Given the description of an element on the screen output the (x, y) to click on. 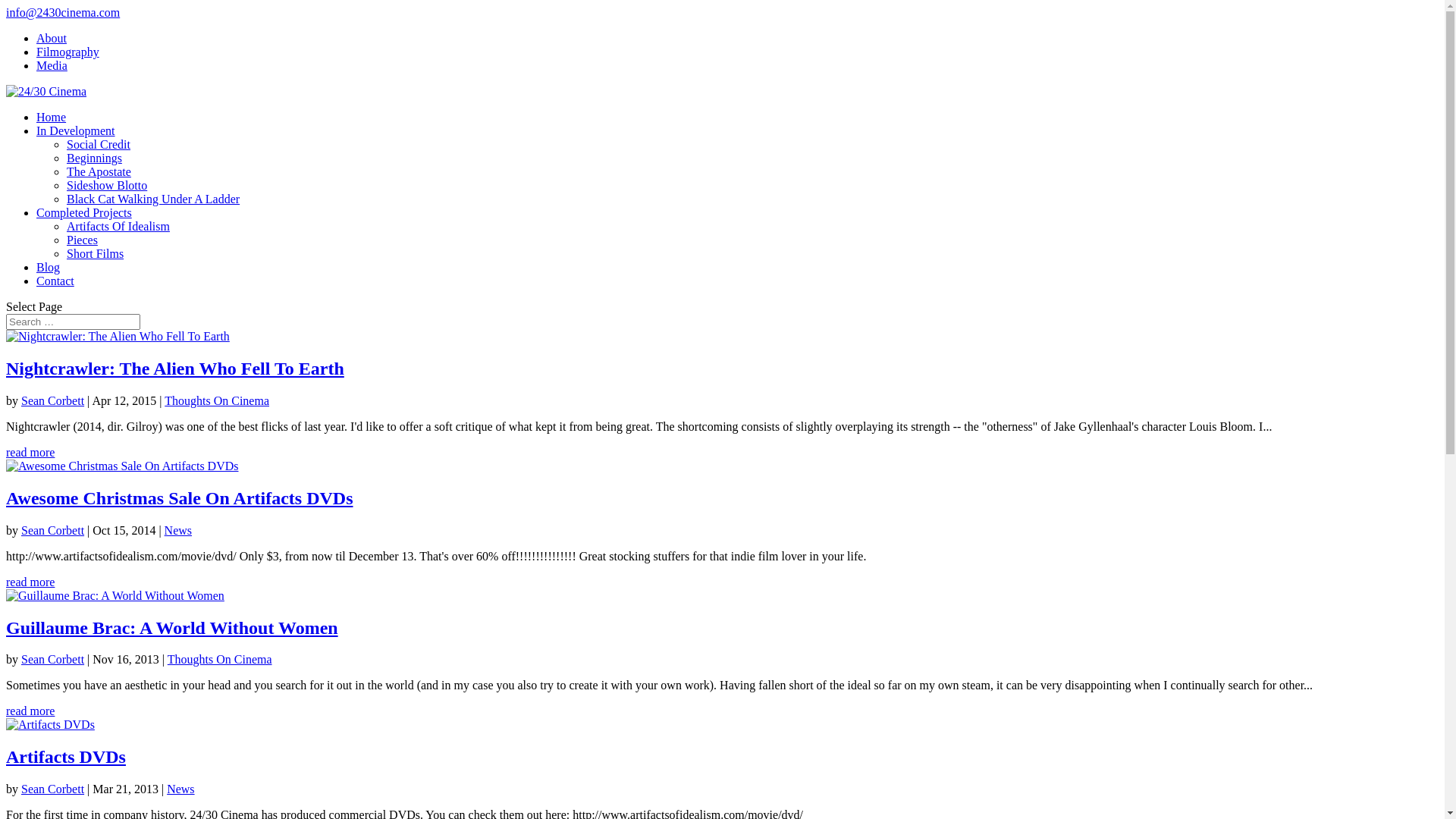
Thoughts On Cinema Element type: text (216, 400)
Thoughts On Cinema Element type: text (219, 658)
News Element type: text (180, 788)
Sean Corbett Element type: text (52, 788)
About Element type: text (51, 37)
Home Element type: text (50, 116)
Artifacts DVDs Element type: text (65, 756)
Sean Corbett Element type: text (52, 658)
In Development Element type: text (75, 130)
read more Element type: text (30, 710)
The Apostate Element type: text (98, 171)
Search for: Element type: hover (73, 321)
Contact Element type: text (55, 280)
Sean Corbett Element type: text (52, 400)
Artifacts Of Idealism Element type: text (117, 225)
Nightcrawler: The Alien Who Fell To Earth Element type: text (175, 368)
Pieces Element type: text (81, 239)
Filmography Element type: text (67, 51)
Social Credit Element type: text (98, 144)
info@2430cinema.com Element type: text (62, 12)
Completed Projects Element type: text (83, 212)
Beginnings Element type: text (94, 157)
Short Films Element type: text (94, 253)
Black Cat Walking Under A Ladder Element type: text (152, 198)
Guillaume Brac: A World Without Women Element type: text (172, 627)
Media Element type: text (51, 65)
Sean Corbett Element type: text (52, 530)
Sideshow Blotto Element type: text (106, 184)
Blog Element type: text (47, 266)
News Element type: text (177, 530)
read more Element type: text (30, 451)
read more Element type: text (30, 581)
Awesome Christmas Sale On Artifacts DVDs Element type: text (179, 498)
